Given the description of an element on the screen output the (x, y) to click on. 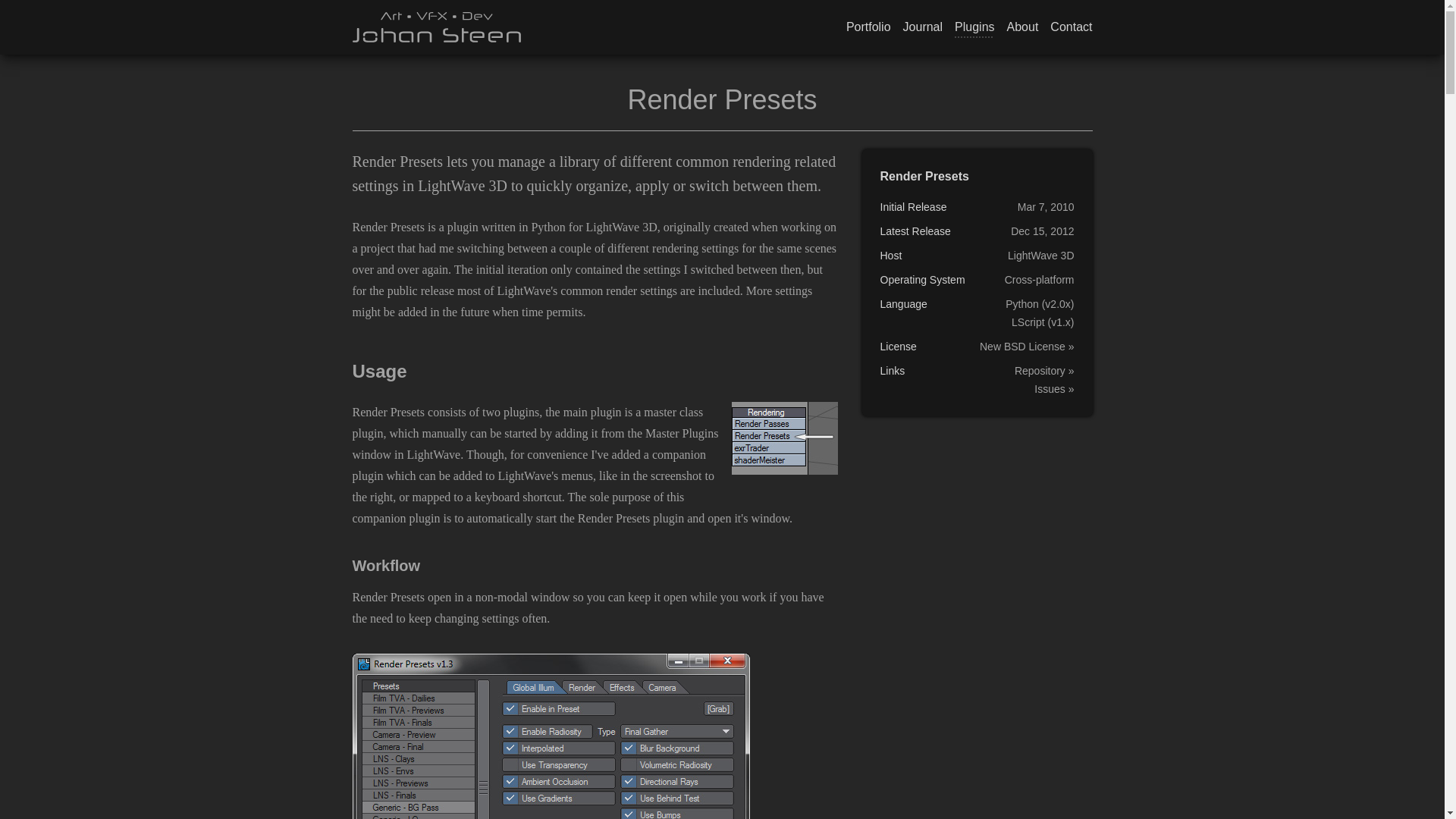
3D Scripts, Plugins and Tools (974, 26)
About Johan Steen (1023, 26)
3D Portfolio (868, 26)
About (1023, 26)
Plugins (974, 26)
Contact (1070, 26)
Journal (922, 26)
Portfolio (868, 26)
Journal (922, 26)
Contact Johan Steen (1070, 26)
